Given the description of an element on the screen output the (x, y) to click on. 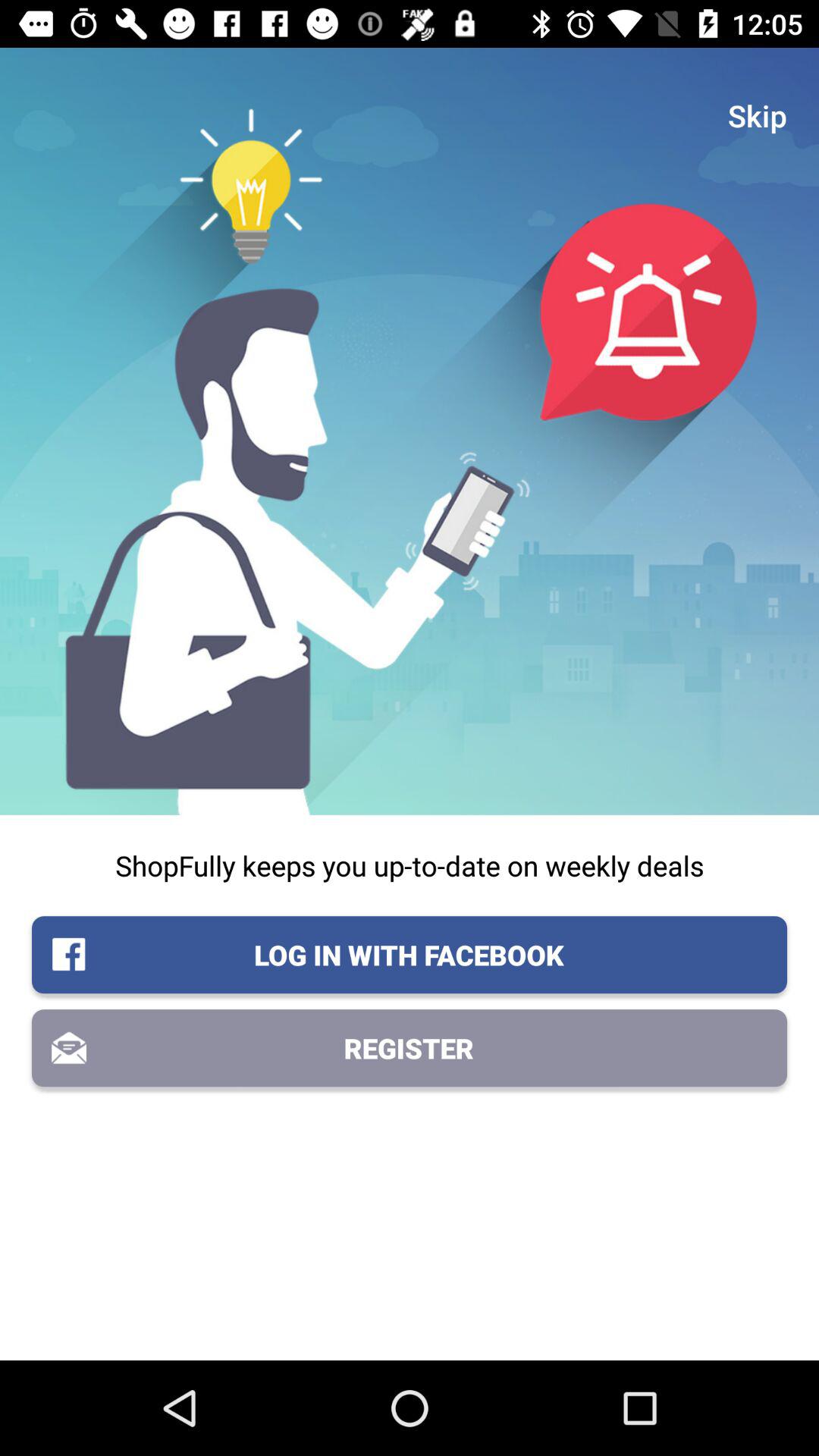
launch item above the register icon (409, 954)
